Given the description of an element on the screen output the (x, y) to click on. 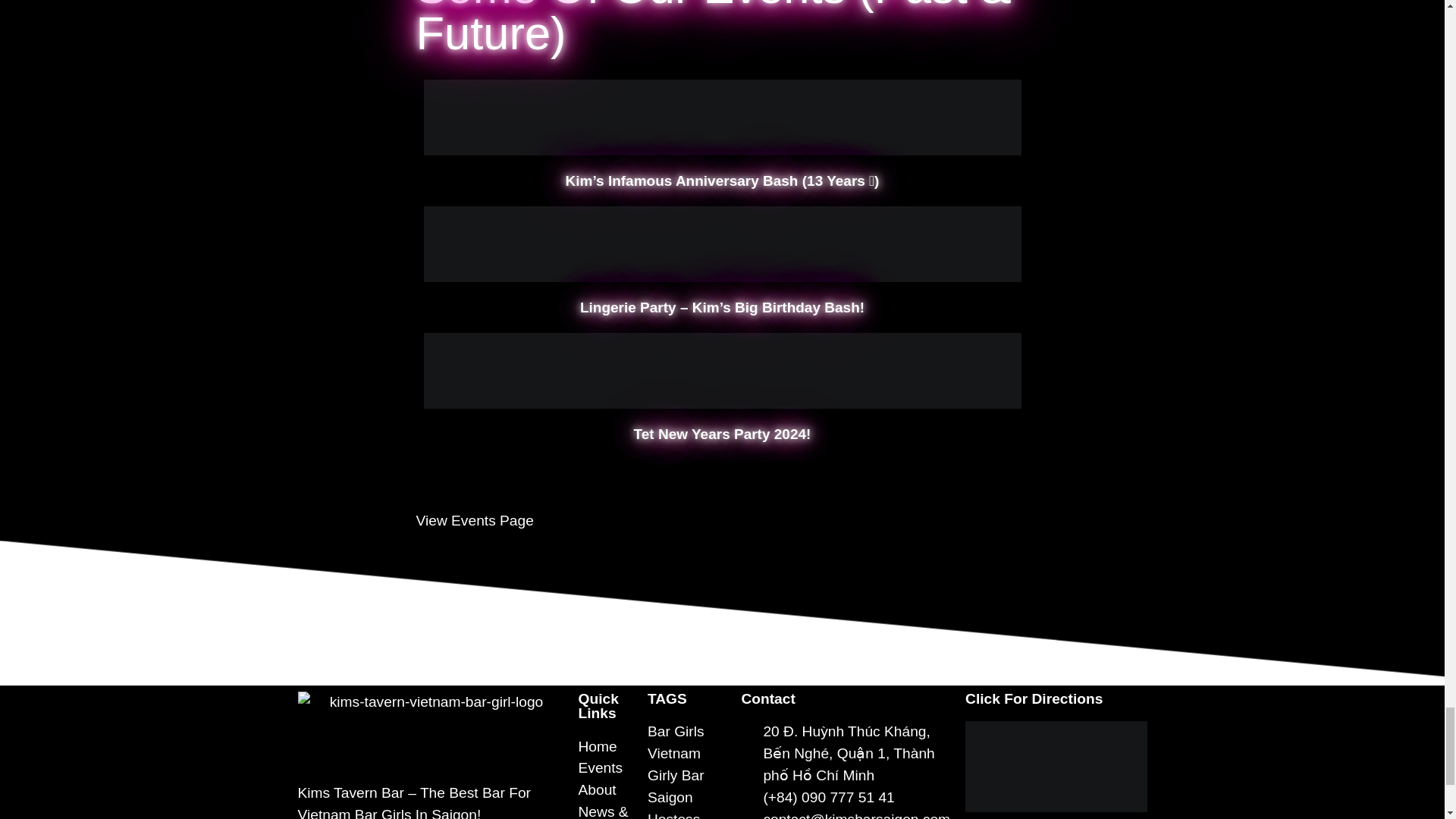
About (604, 790)
Events (604, 768)
Tet New Years Party 2024! (721, 433)
View Events Page (473, 520)
Home (604, 747)
